Given the description of an element on the screen output the (x, y) to click on. 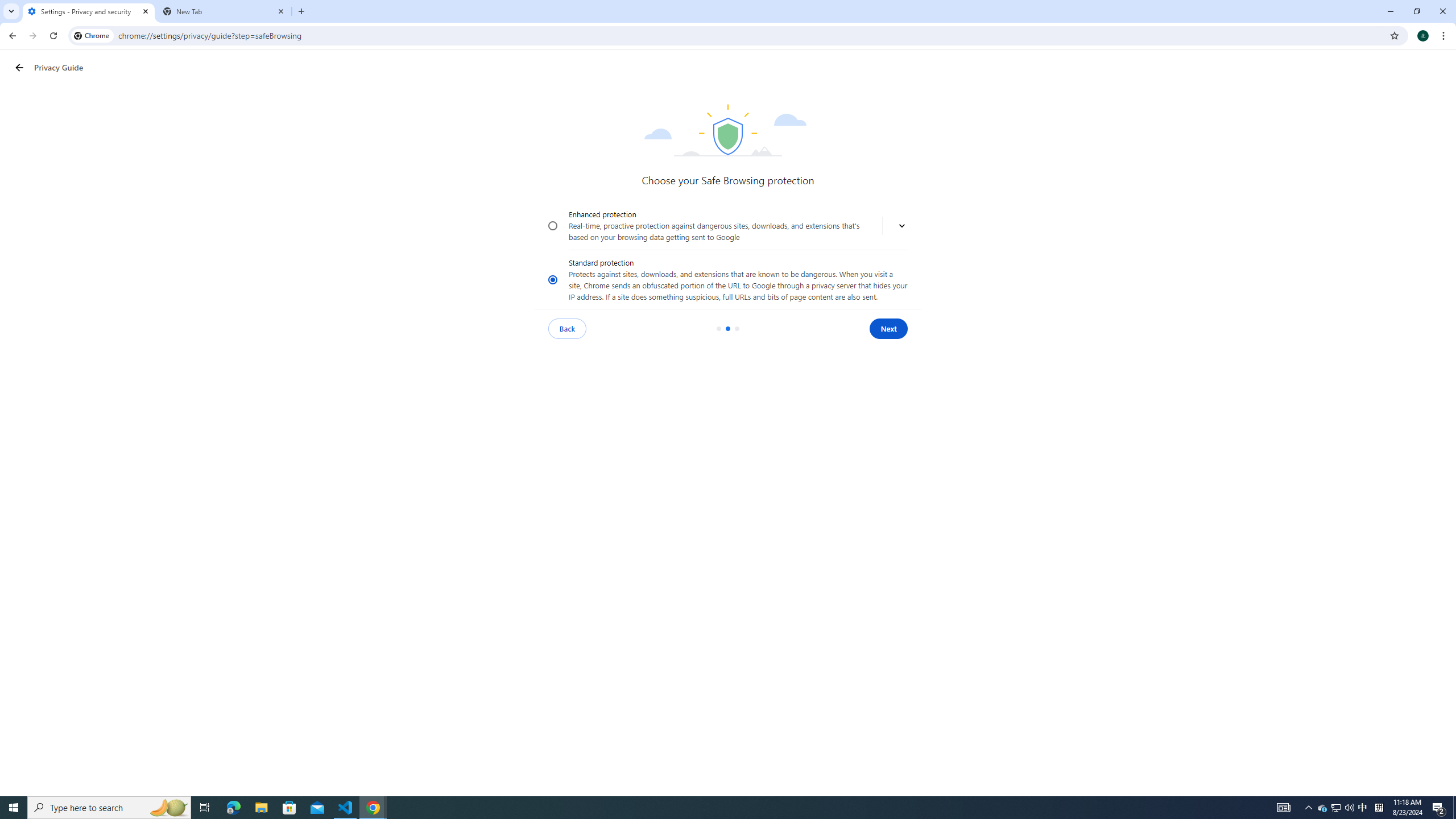
Show enhanced protection details (901, 225)
Privacy Guide back button (19, 67)
Enhanced protection (552, 225)
Standard protection (552, 279)
Settings - Privacy and security (88, 11)
